Given the description of an element on the screen output the (x, y) to click on. 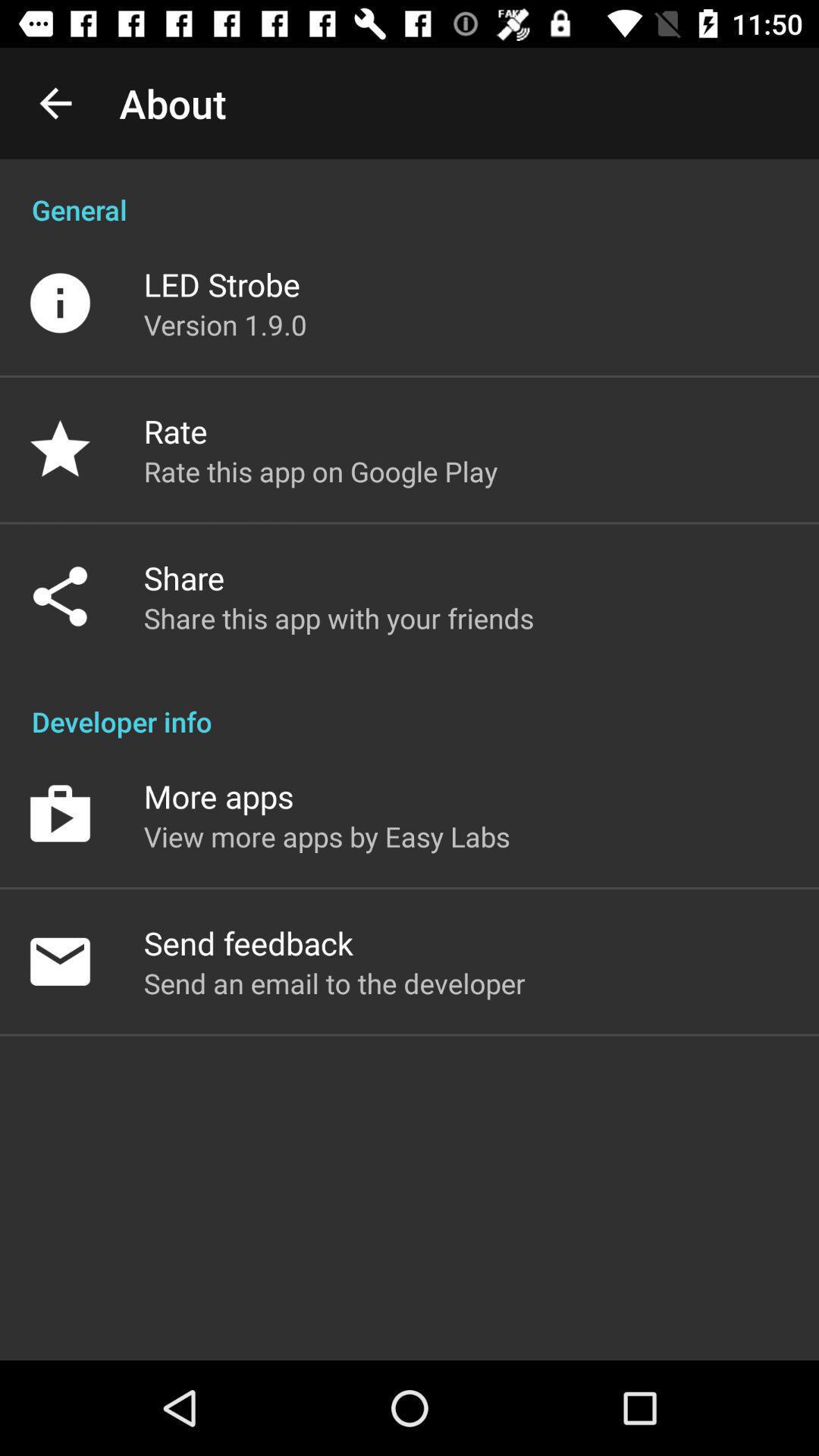
launch general icon (409, 193)
